Given the description of an element on the screen output the (x, y) to click on. 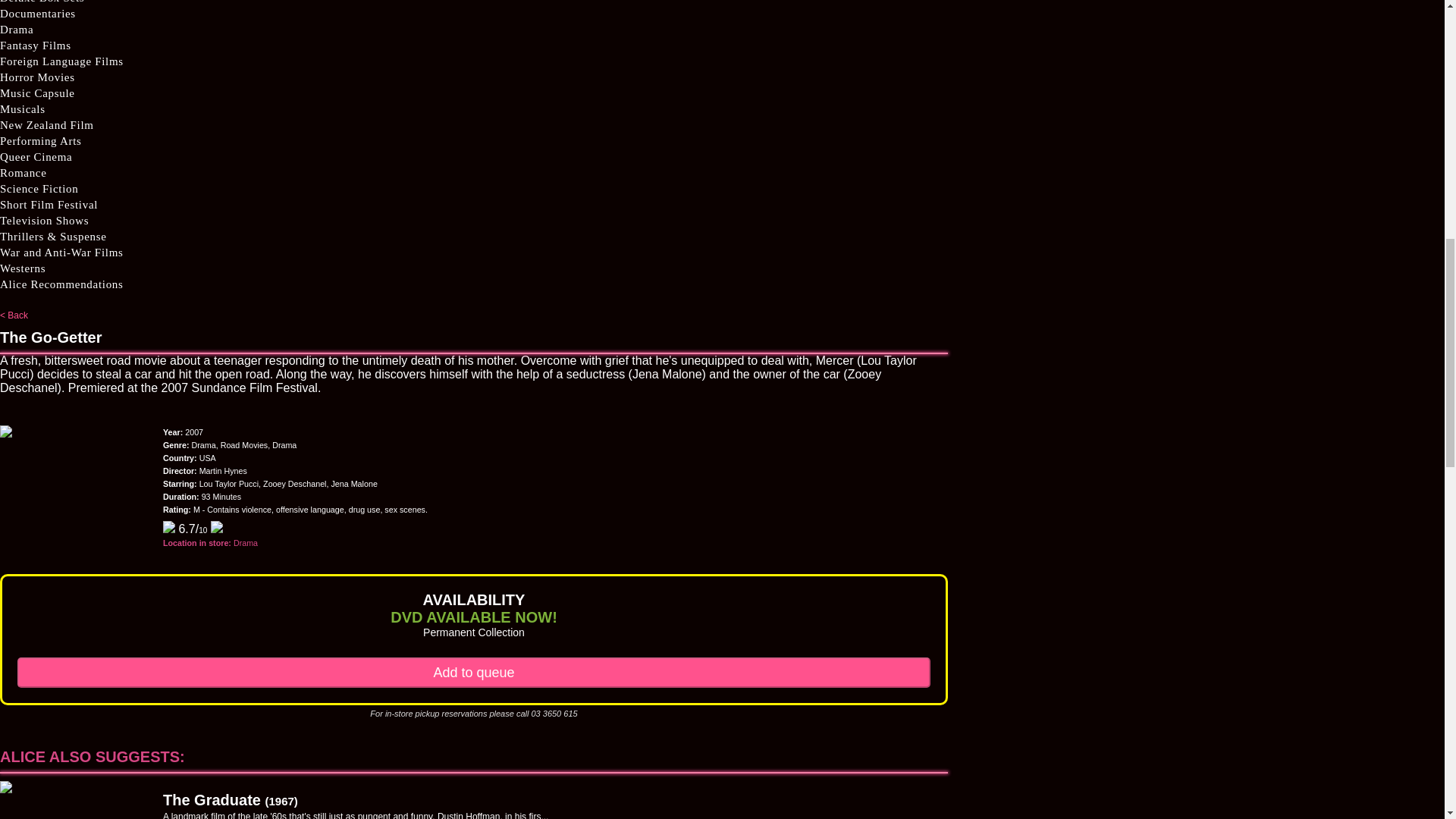
Musicals (22, 109)
Fantasy Films (35, 45)
Music Capsule (37, 93)
Drama (16, 29)
New Zealand Film (47, 125)
Foreign Language Films (61, 61)
Deluxe Box Sets (42, 2)
Performing Arts (40, 141)
Horror Movies (37, 77)
Documentaries (37, 13)
